Given the description of an element on the screen output the (x, y) to click on. 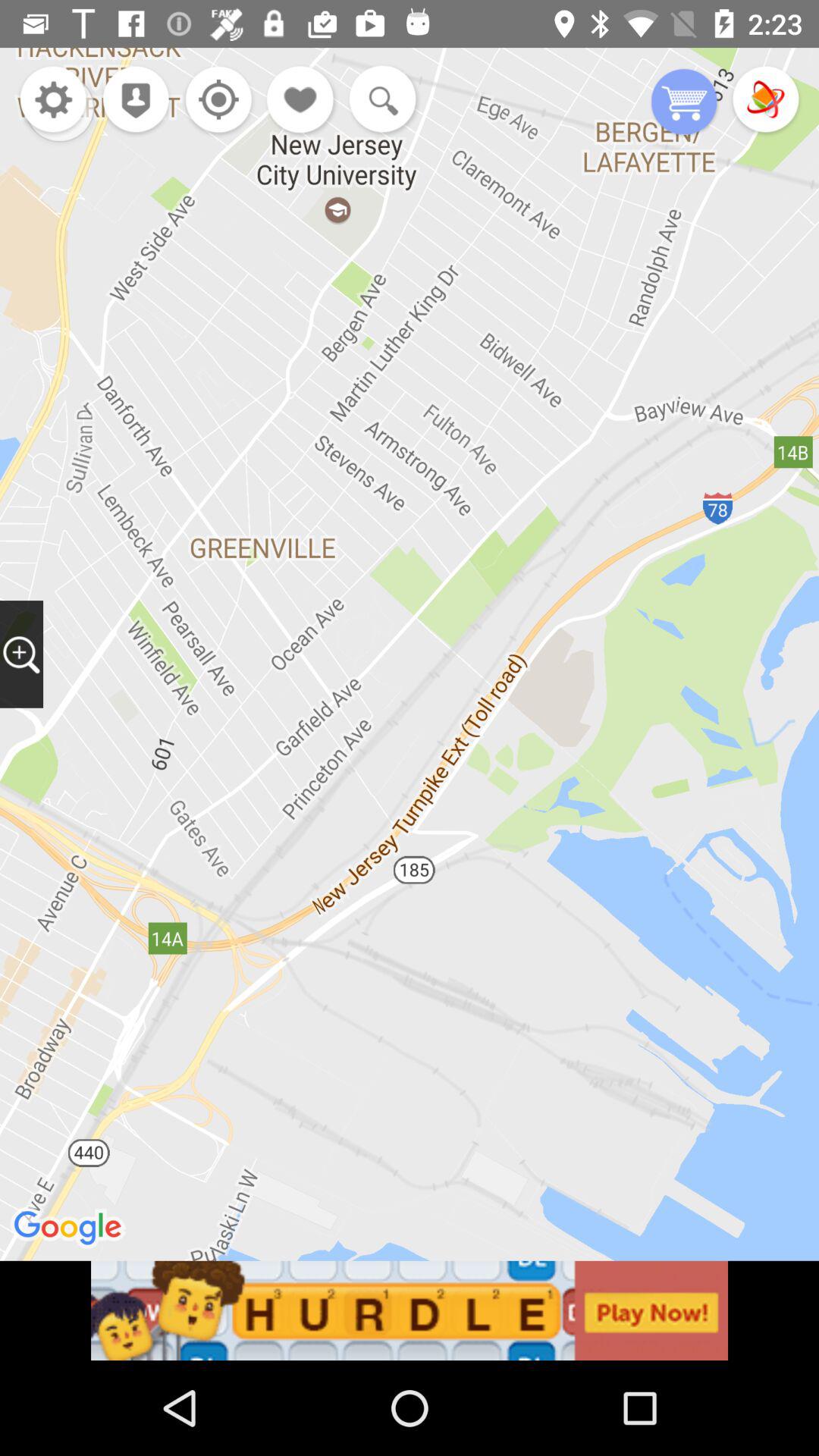
go to search (379, 100)
